Given the description of an element on the screen output the (x, y) to click on. 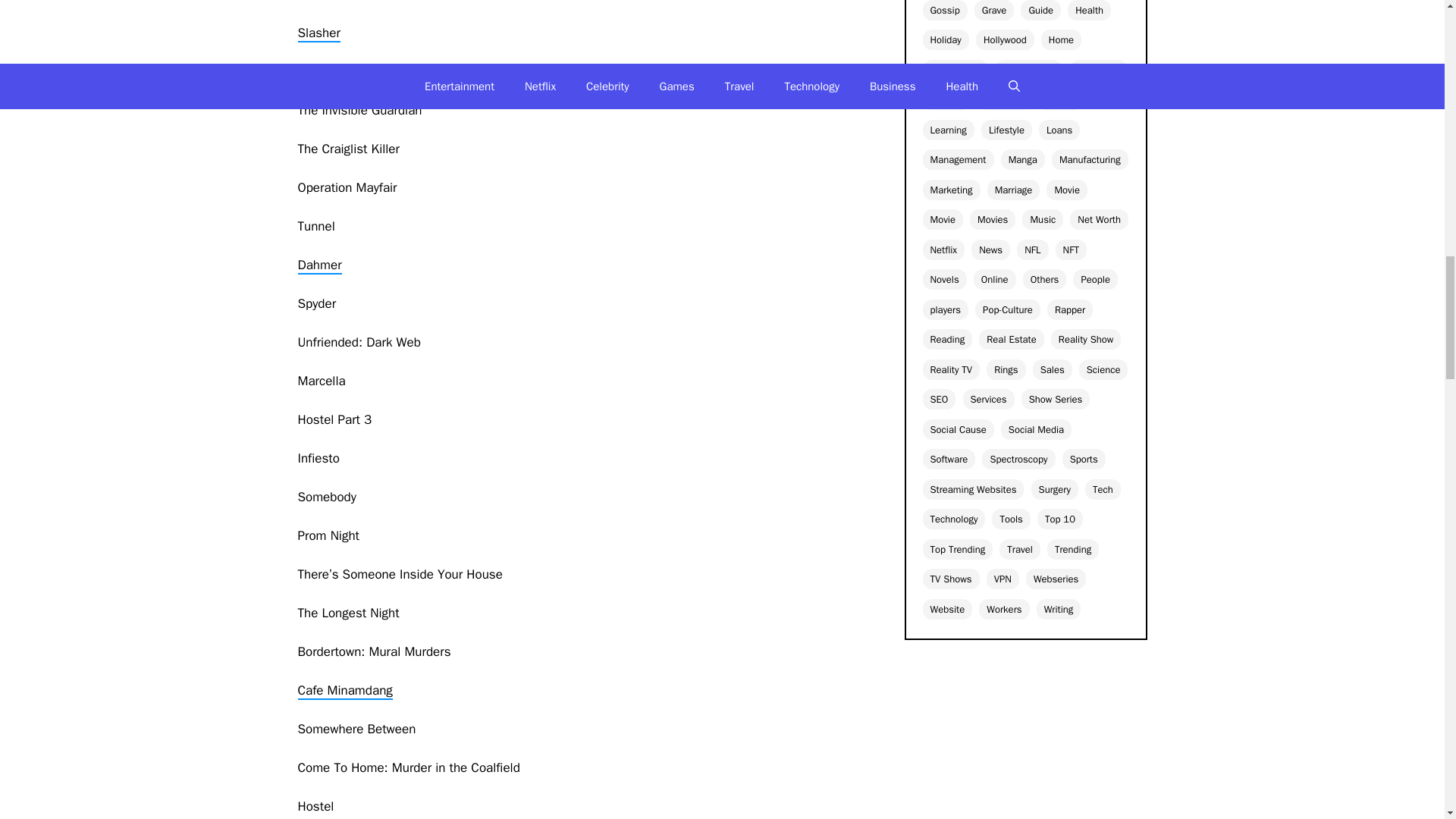
Slasher (318, 33)
Dahmer (318, 265)
Cafe Minamdang (344, 691)
